Given the description of an element on the screen output the (x, y) to click on. 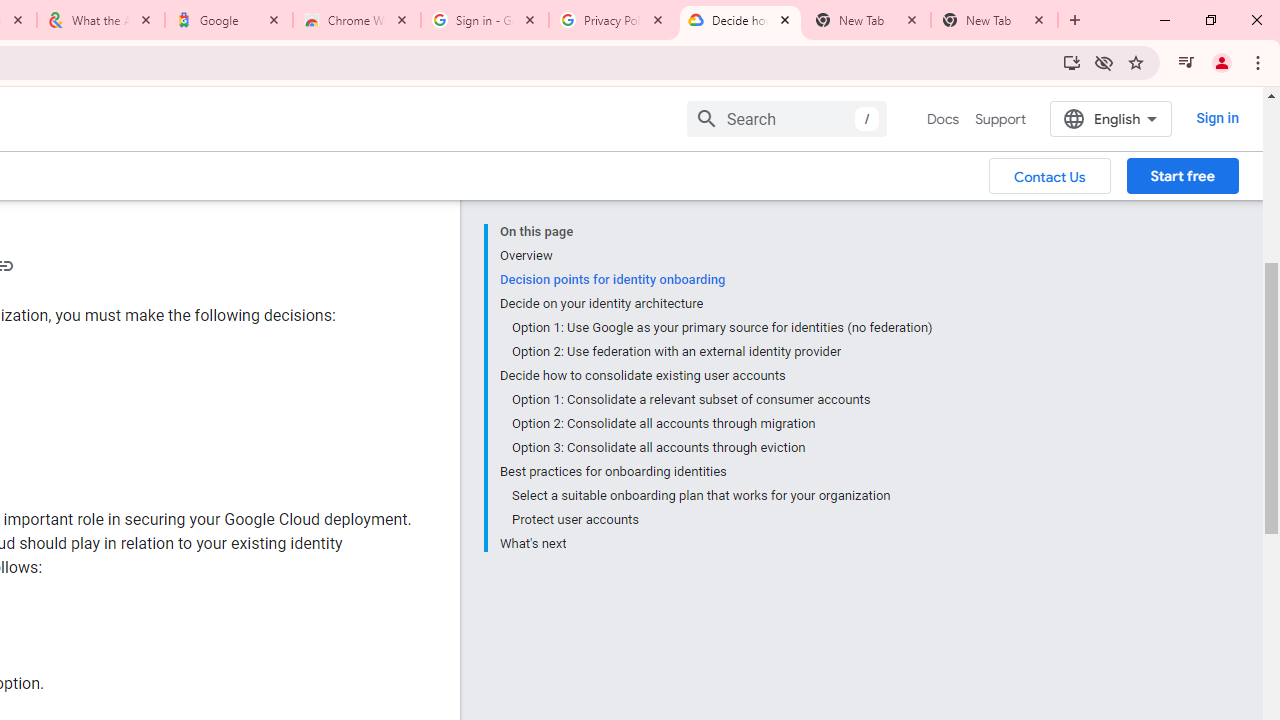
Install Google Cloud (1071, 62)
Start free (1182, 175)
Google (229, 20)
Docs, selected (942, 119)
Chrome Web Store - Color themes by Chrome (357, 20)
Option 2: Use federation with an external identity provider (721, 351)
Option 3: Consolidate all accounts through eviction (721, 448)
